Given the description of an element on the screen output the (x, y) to click on. 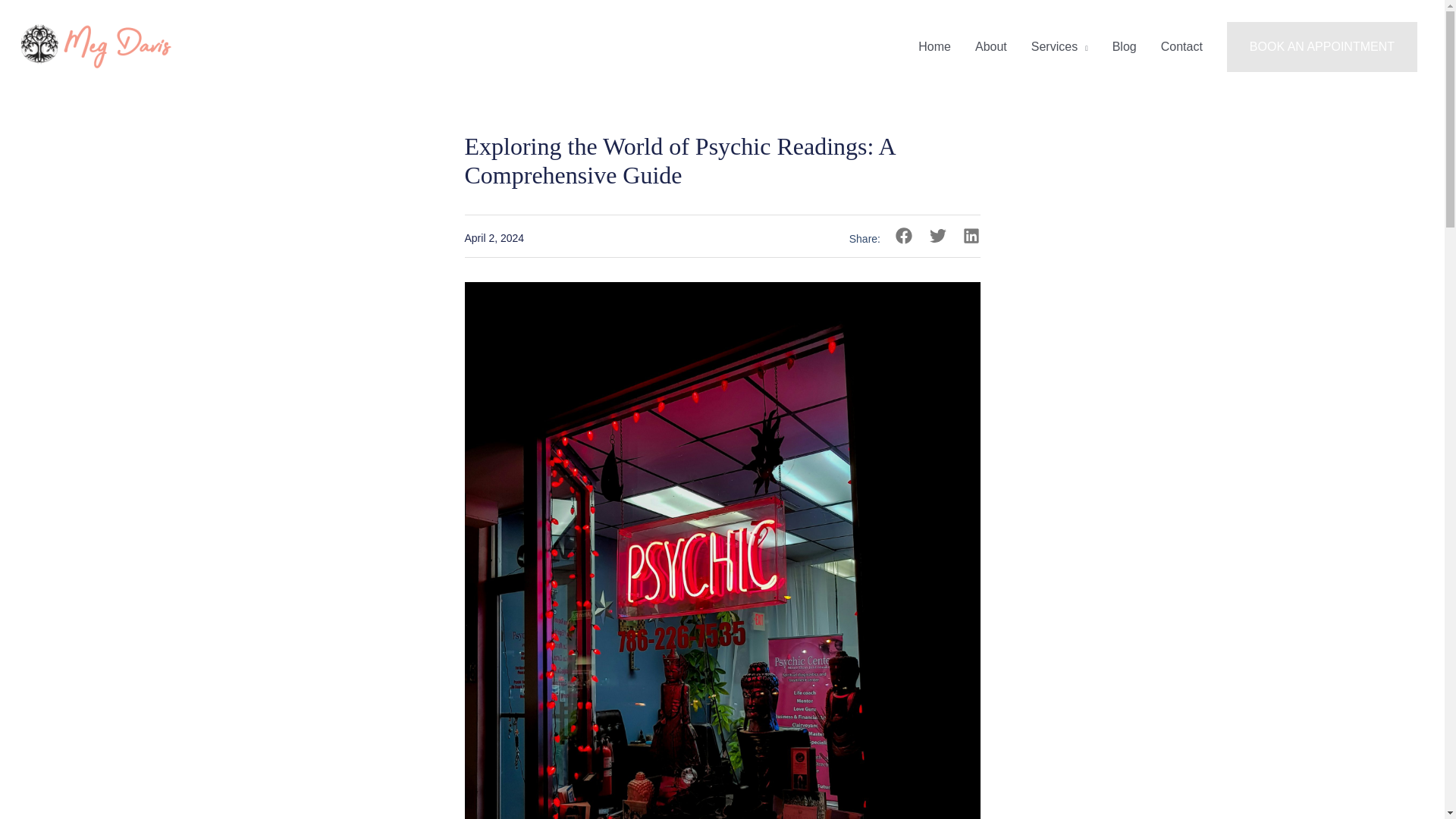
About (990, 46)
Blog (1124, 46)
Contact (1181, 46)
Services (1059, 46)
BOOK AN APPOINTMENT (1321, 47)
Home (933, 46)
April 2, 2024 (494, 238)
